Given the description of an element on the screen output the (x, y) to click on. 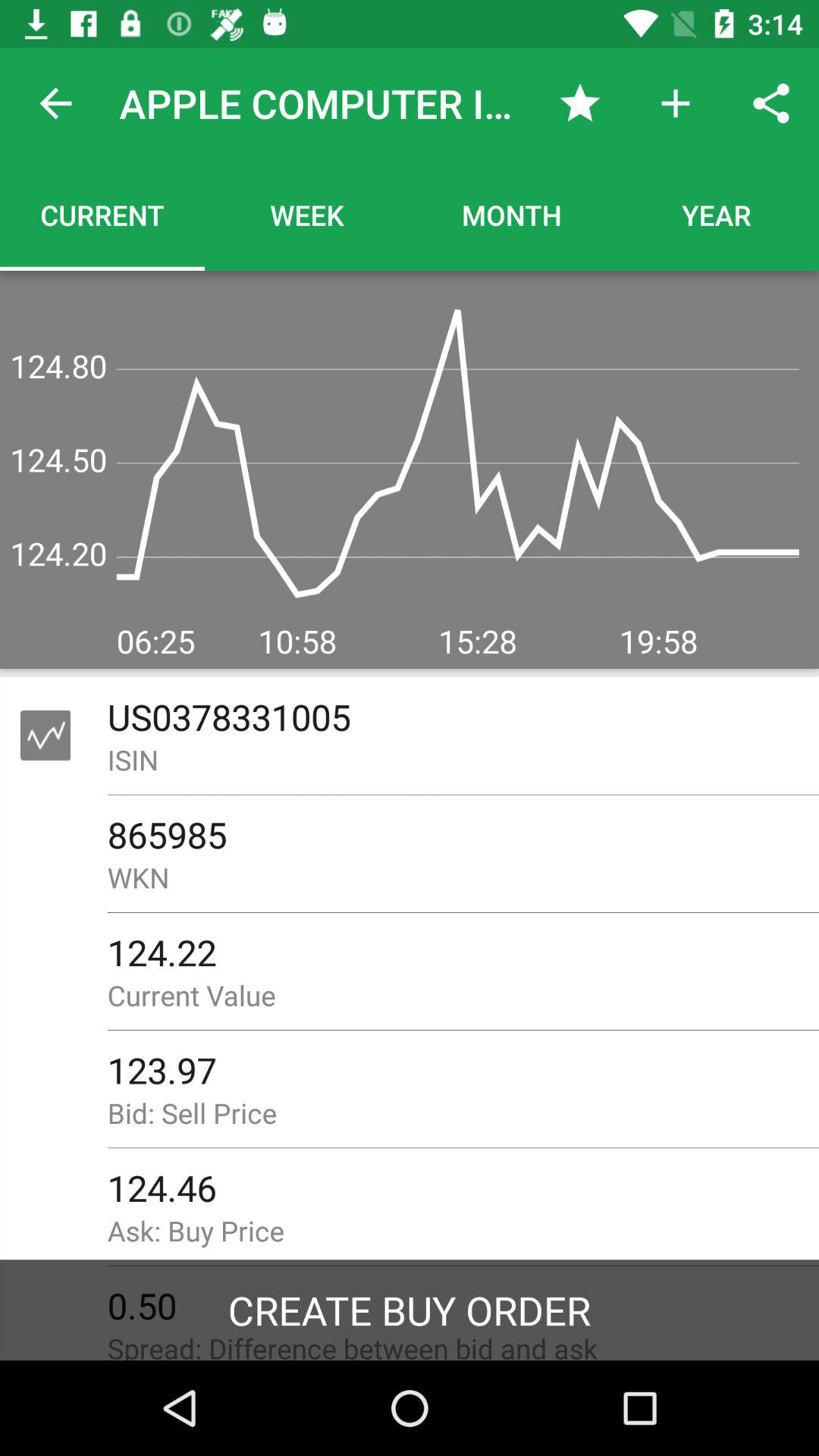
tap the  icon which is to the left of share icon (675, 103)
select the icon which is just beside the us0378331005 (45, 735)
click on the share icon which is on the top right corner (771, 103)
